Given the description of an element on the screen output the (x, y) to click on. 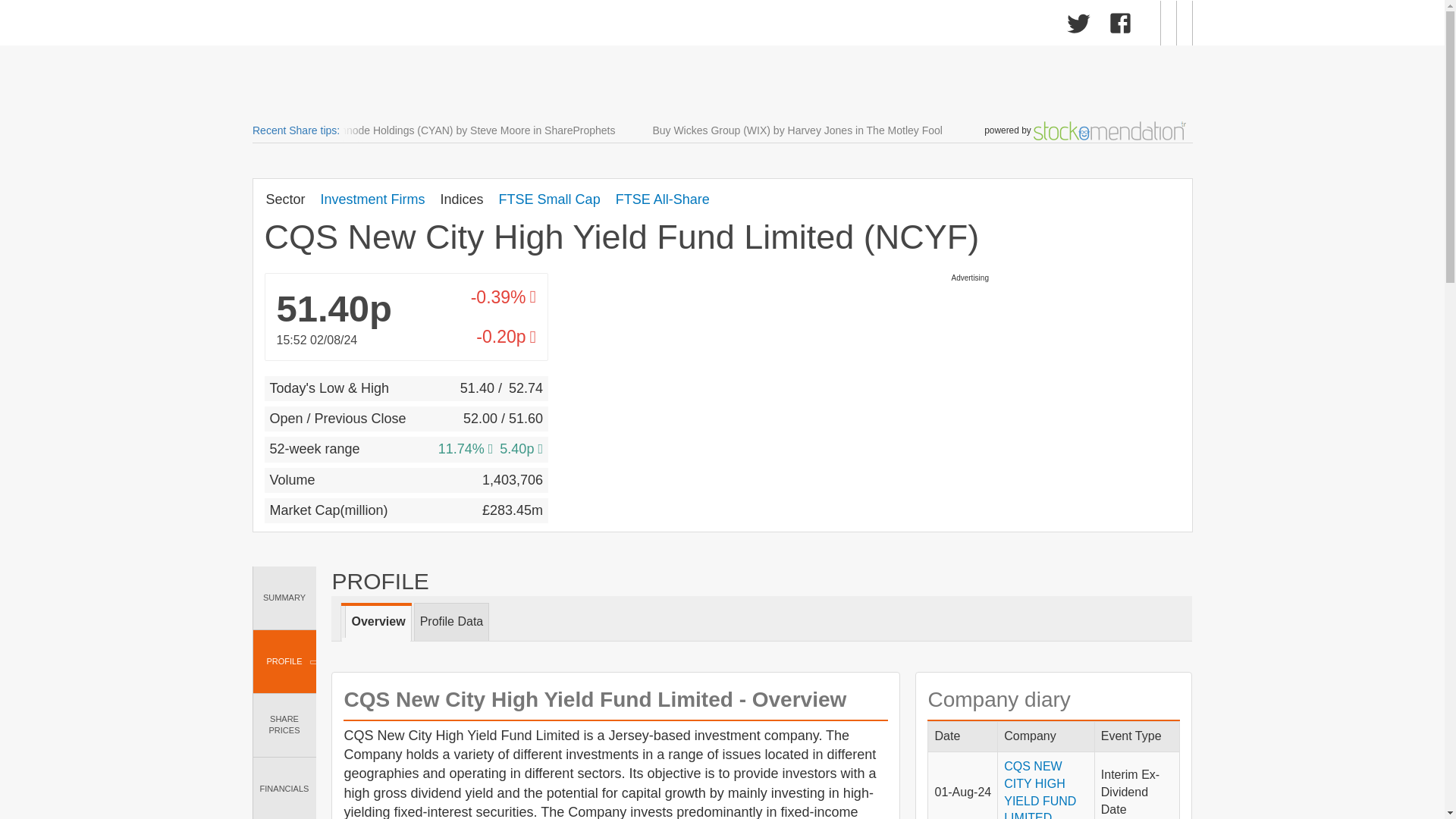
Market Data (404, 26)
UK Shares (315, 26)
Cryptocurrencies (633, 26)
Sharecast News (511, 26)
Active Trader (744, 26)
Sharecast (486, 22)
